Given the description of an element on the screen output the (x, y) to click on. 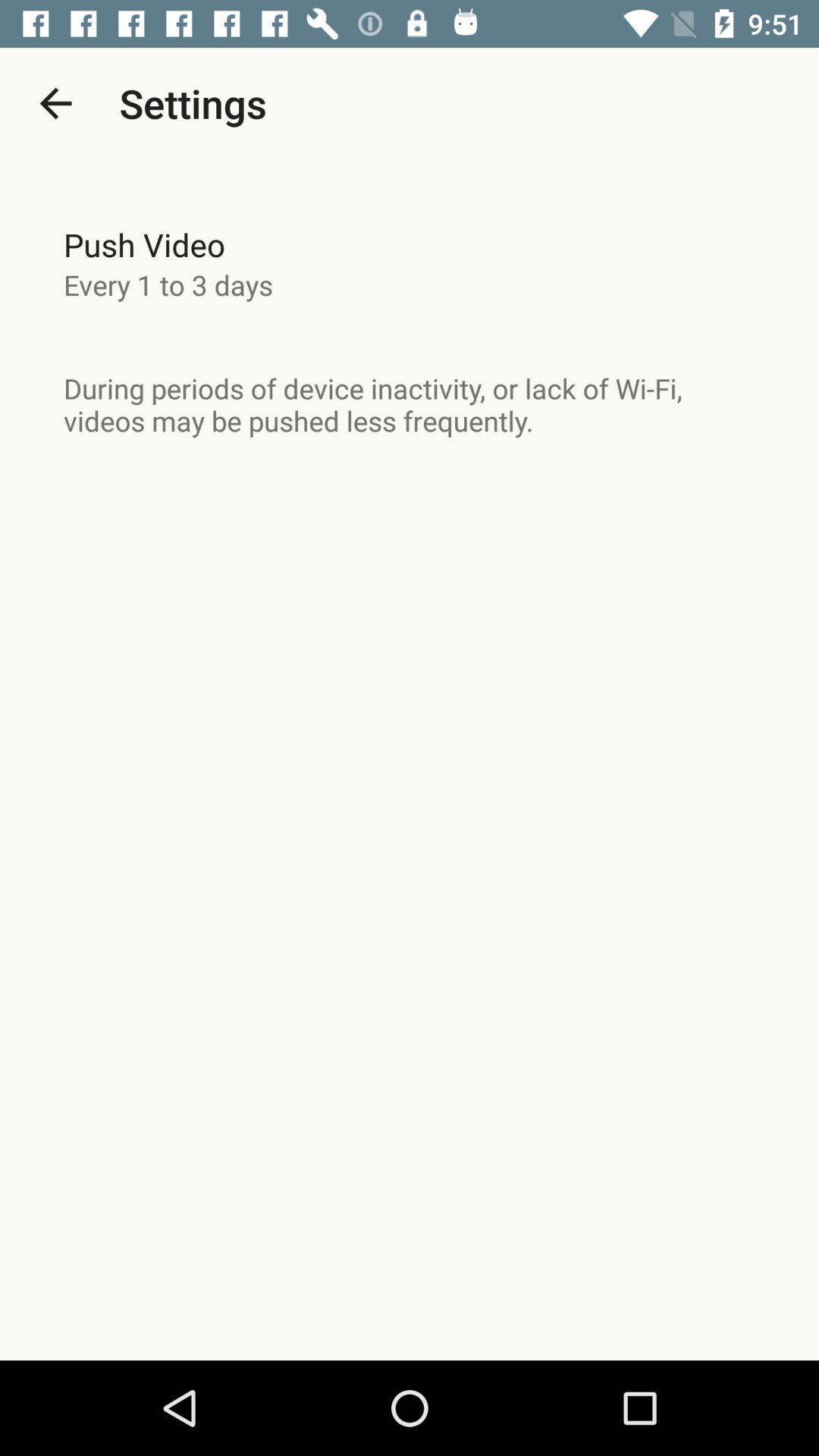
launch icon above during periods of icon (168, 284)
